Given the description of an element on the screen output the (x, y) to click on. 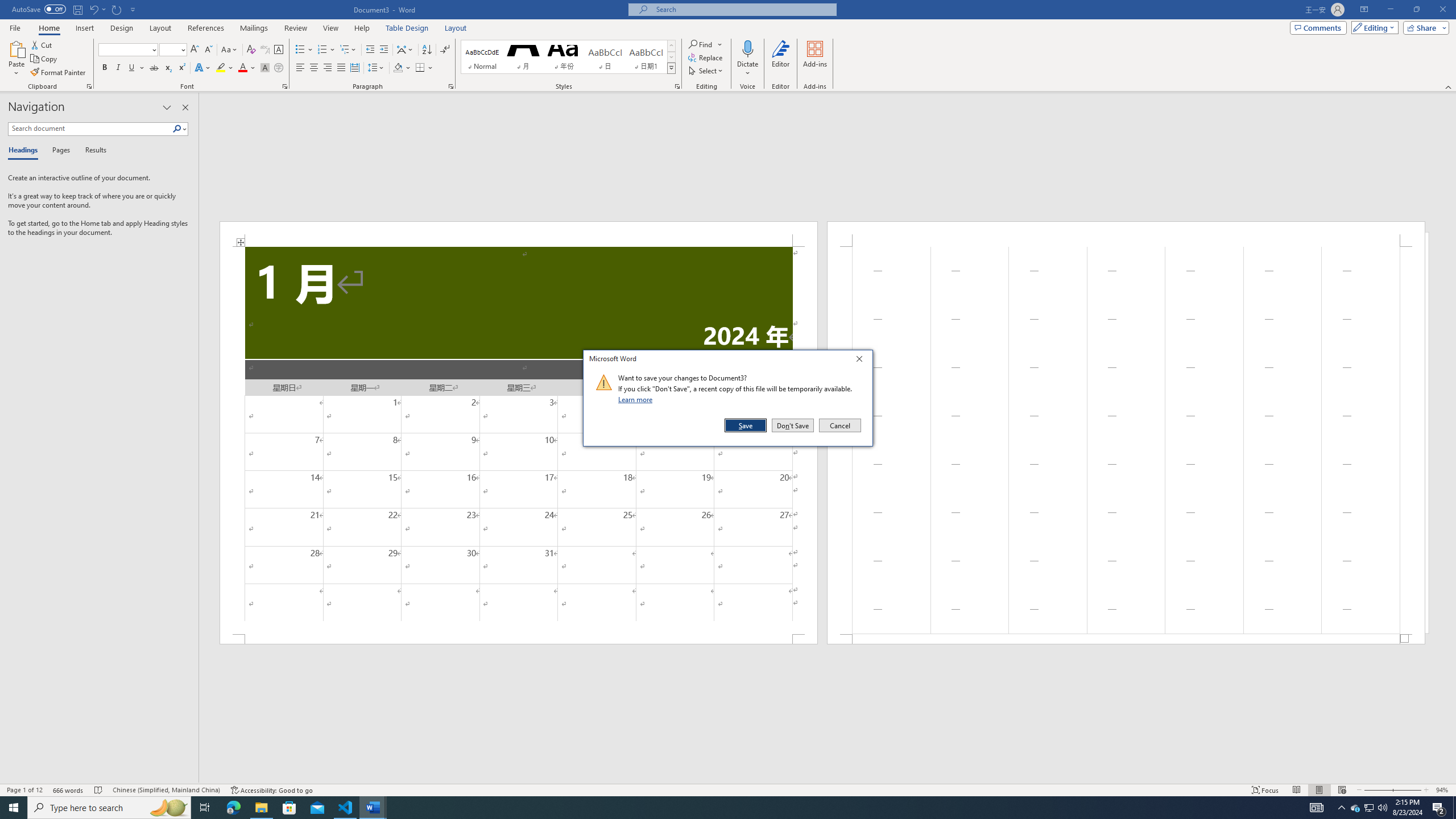
Learn more (636, 399)
Copy (45, 58)
